Given the description of an element on the screen output the (x, y) to click on. 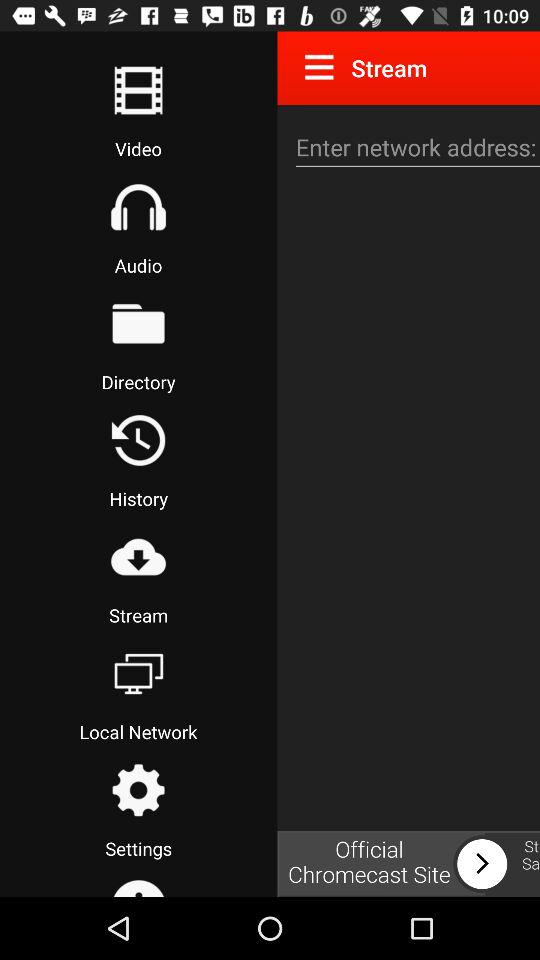
go to official site (408, 864)
